Given the description of an element on the screen output the (x, y) to click on. 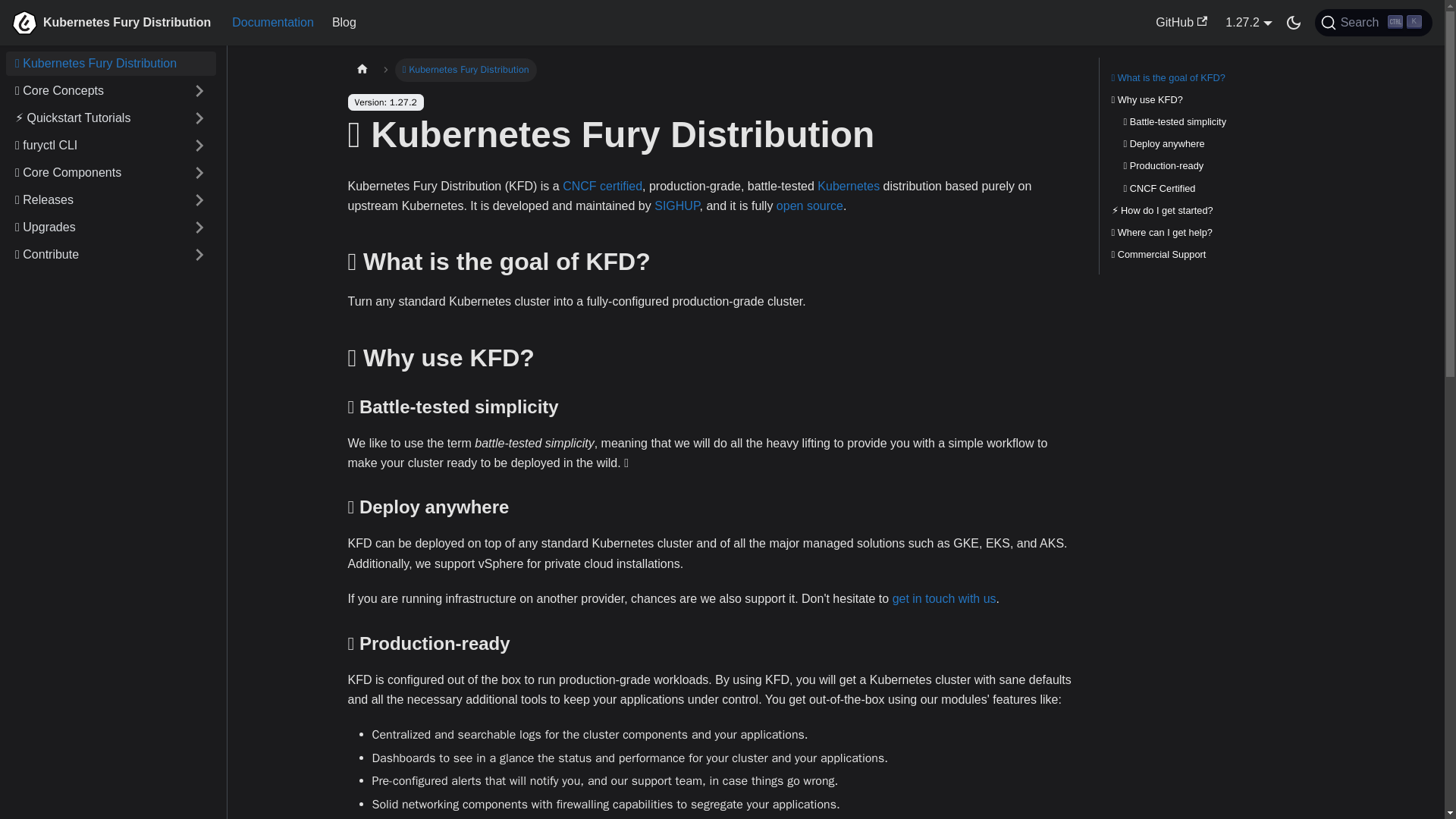
Blog (344, 22)
GitHub (1373, 22)
1.27.2 (1181, 22)
Kubernetes Fury Distribution (1248, 21)
Documentation (111, 22)
